Given the description of an element on the screen output the (x, y) to click on. 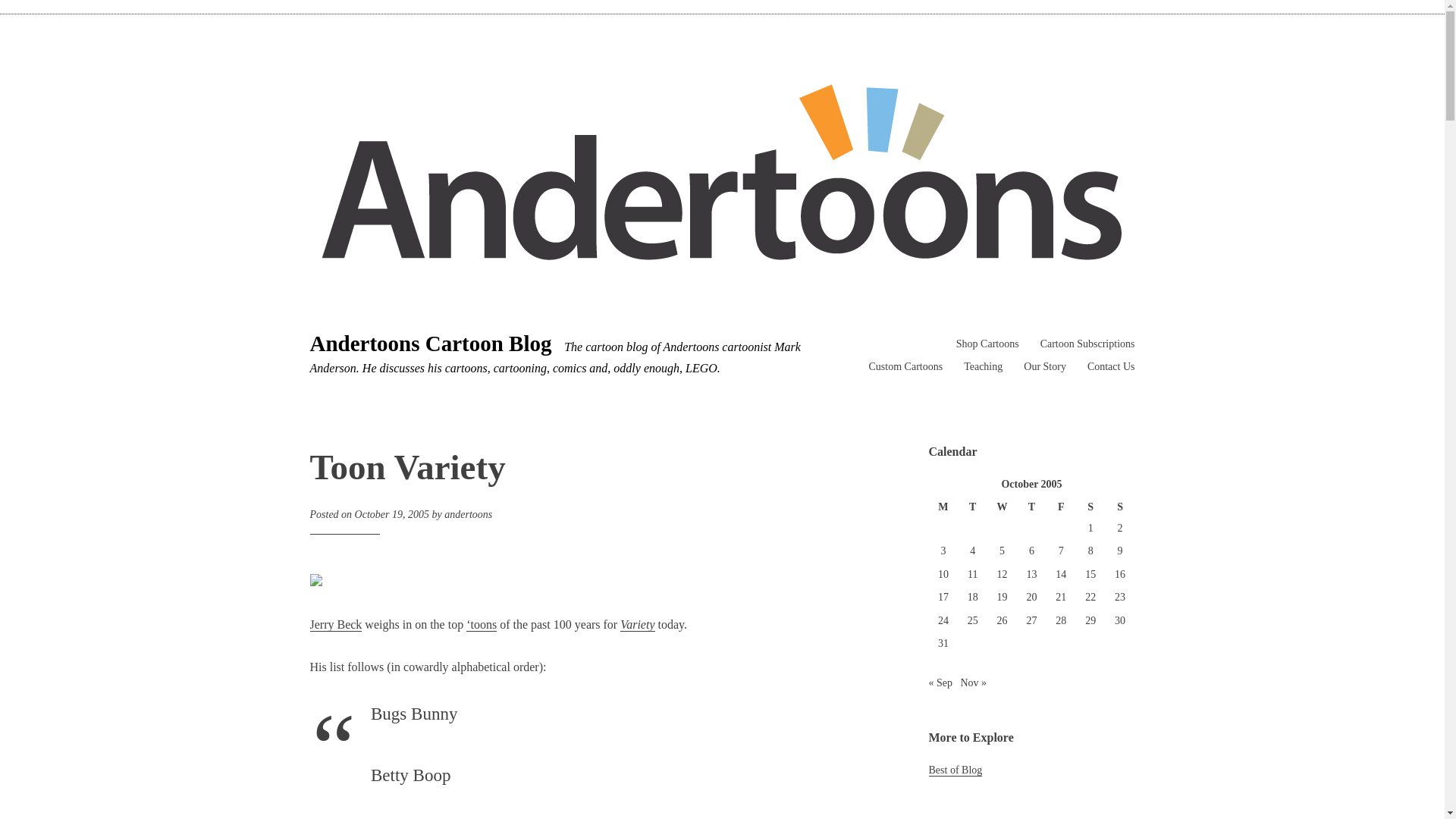
26 (1002, 620)
Wednesday (1001, 506)
Thursday (1031, 506)
Cartoon Subscriptions (1088, 343)
22 (1090, 596)
Monday (943, 506)
Jerry Beck (334, 624)
19 (1002, 596)
Variety (636, 624)
